Given the description of an element on the screen output the (x, y) to click on. 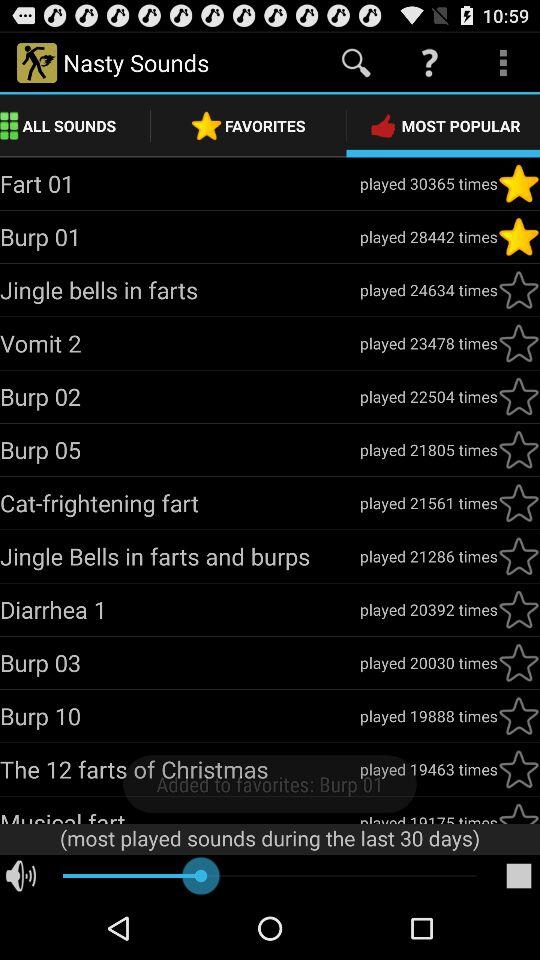
favorite (519, 556)
